Given the description of an element on the screen output the (x, y) to click on. 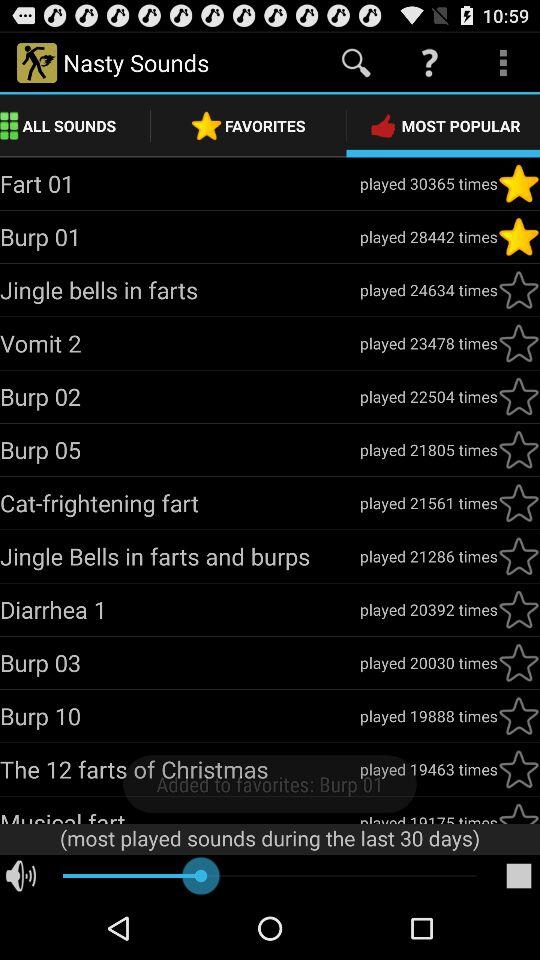
favorite (519, 556)
